Given the description of an element on the screen output the (x, y) to click on. 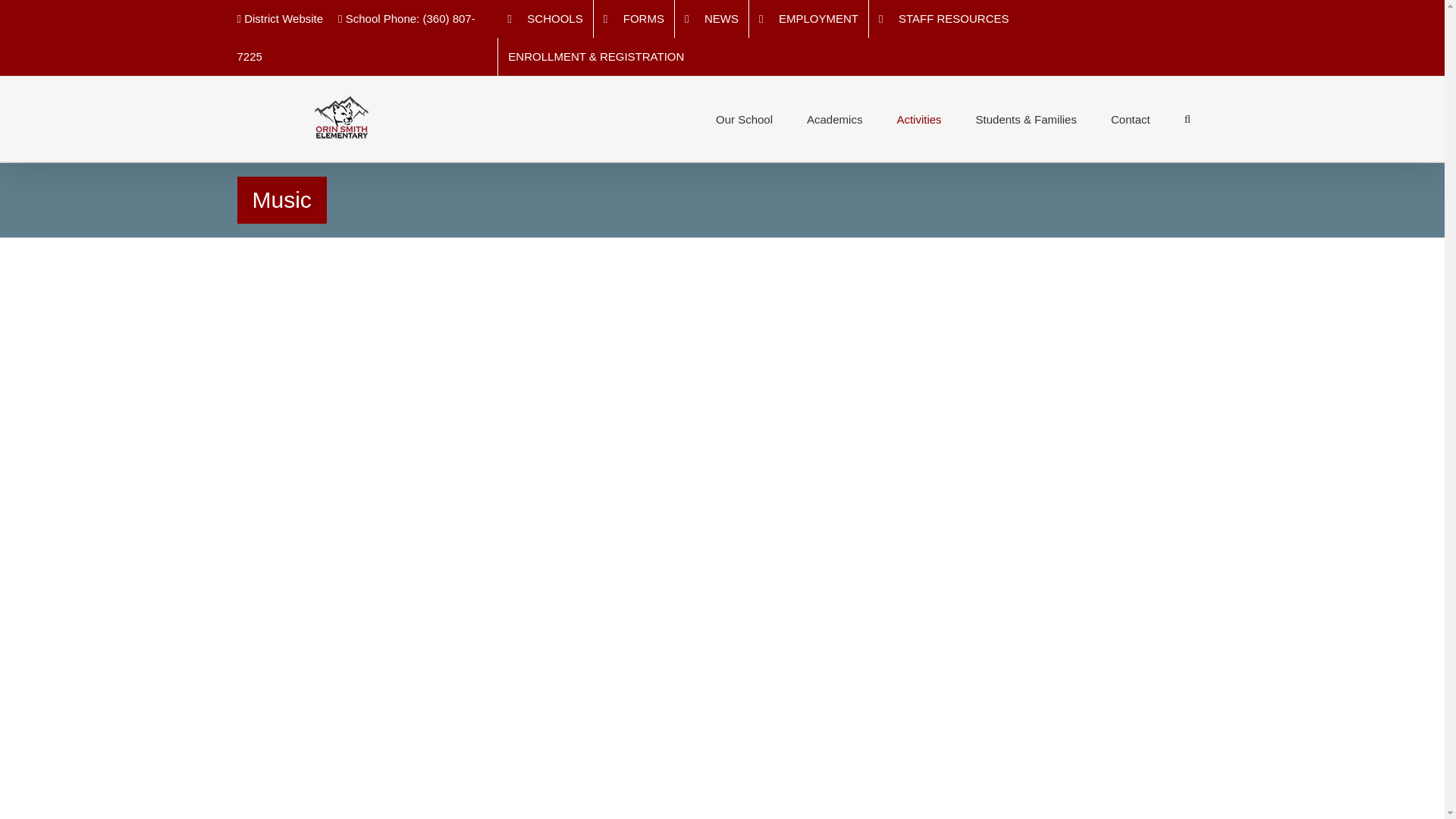
District Website (279, 18)
Academics (834, 118)
FORMS (634, 18)
Activities (918, 118)
Our School (743, 118)
EMPLOYMENT (808, 18)
SCHOOLS (544, 18)
STAFF RESOURCES (944, 18)
NEWS (711, 18)
